Given the description of an element on the screen output the (x, y) to click on. 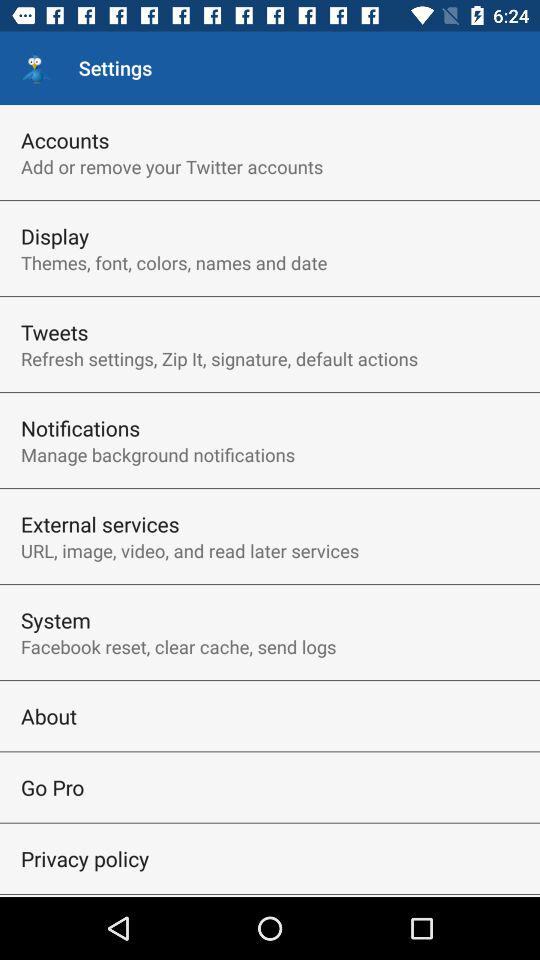
press the manage background notifications item (158, 454)
